Given the description of an element on the screen output the (x, y) to click on. 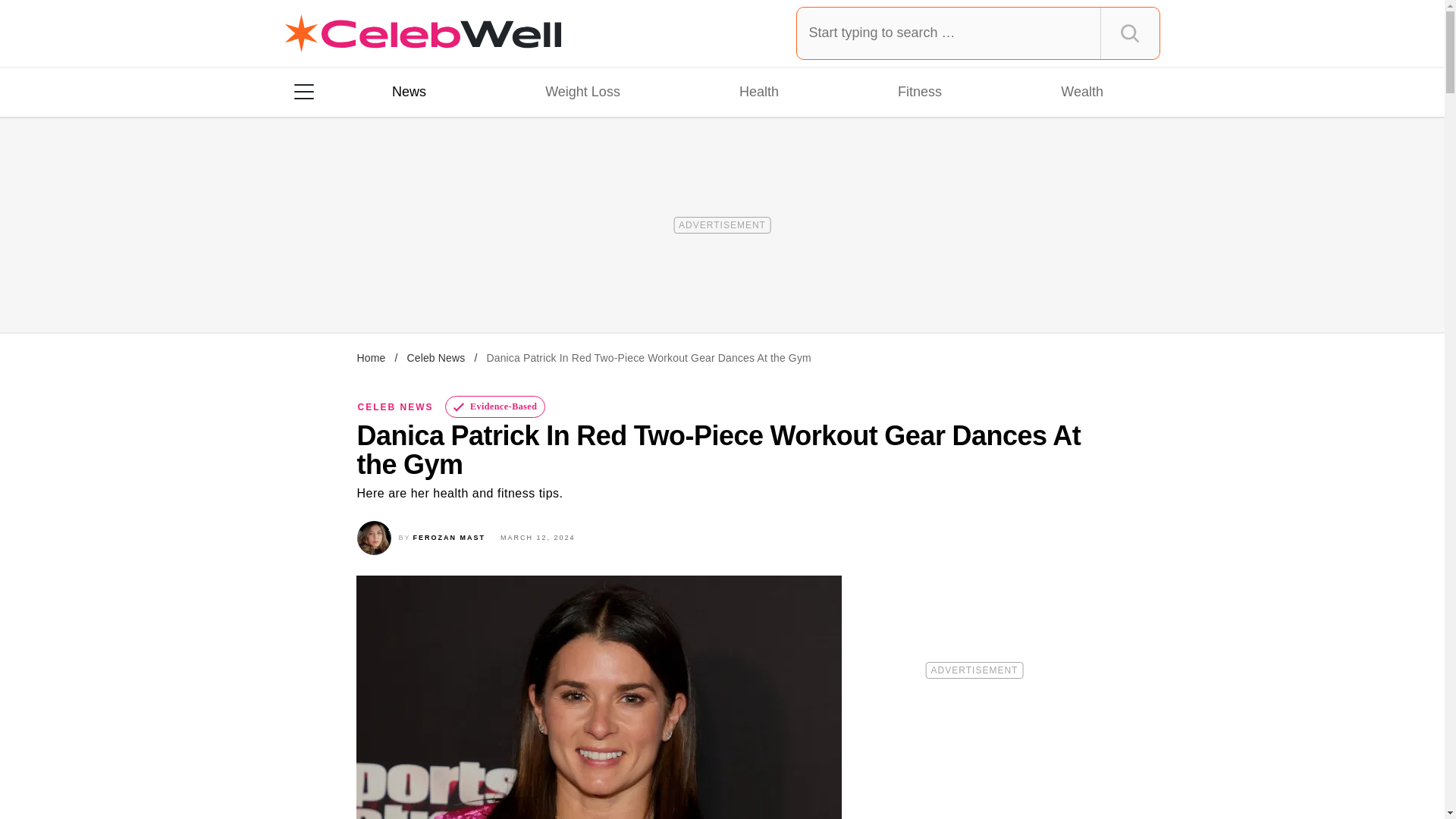
Posts by Ferozan Mast (449, 537)
Celeb News (435, 357)
FEROZAN MAST (449, 537)
Evidence-Based (495, 406)
CELEB NEWS (395, 407)
Wealth (1081, 91)
Type and press Enter to search (978, 32)
Weight Loss (582, 91)
Health (758, 91)
Fitness (919, 91)
